Given the description of an element on the screen output the (x, y) to click on. 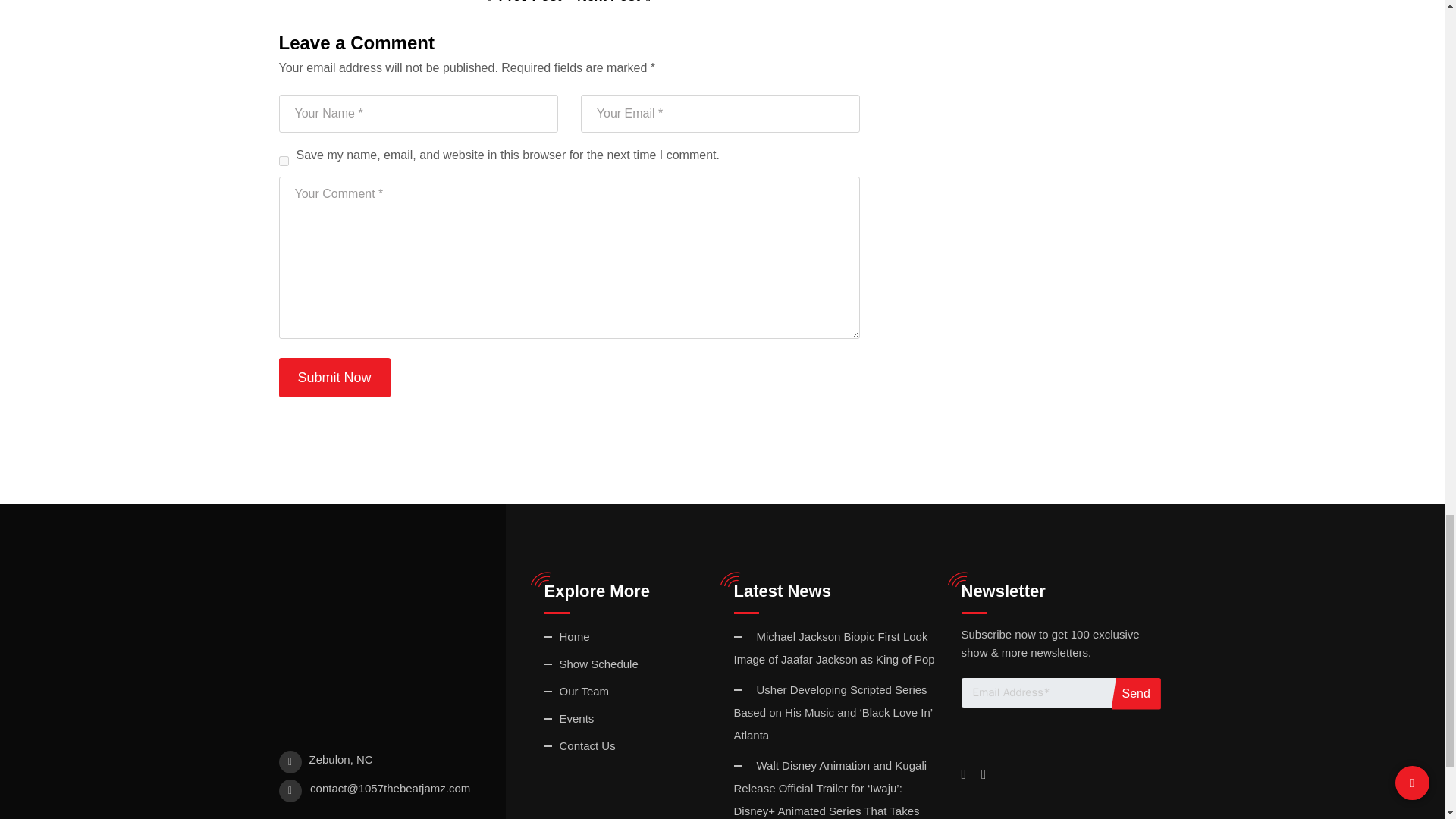
Next Post (613, 2)
Prev Post (524, 2)
Submit Now (334, 377)
yes (283, 160)
